Given the description of an element on the screen output the (x, y) to click on. 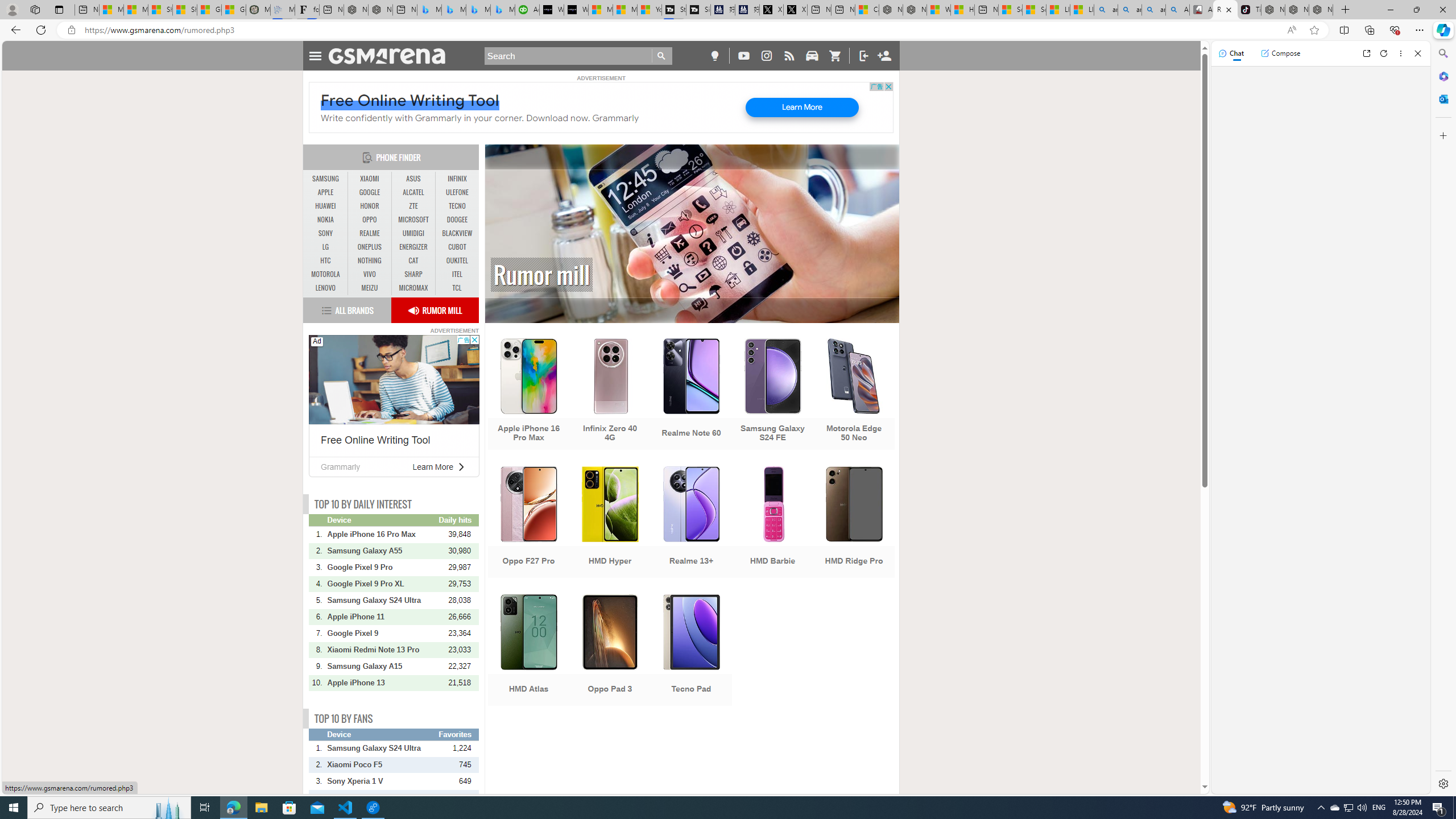
NOKIA (325, 219)
Microsoft Start (625, 9)
Address and search bar (680, 29)
MEIZU (369, 287)
Customize (1442, 135)
Samsung Galaxy S24 FE (772, 395)
CUBOT (457, 246)
Oppo Pad 3 (609, 651)
Free Online Writing Tool (374, 439)
SONY (325, 233)
